Given the description of an element on the screen output the (x, y) to click on. 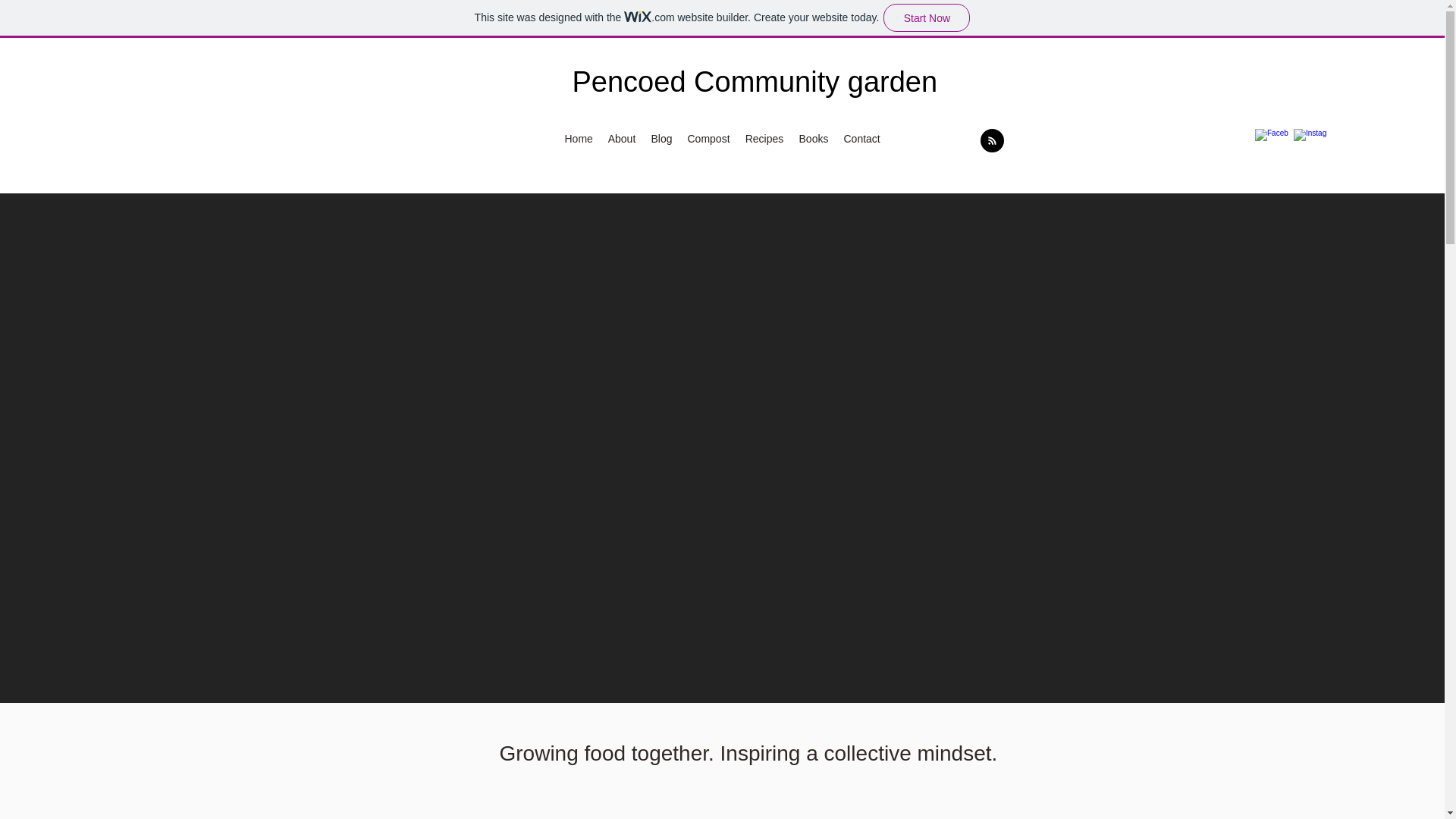
Contact (860, 138)
About (621, 138)
Recipes (763, 138)
Blog (661, 138)
Compost (707, 138)
Home (577, 138)
Books (813, 138)
